Given the description of an element on the screen output the (x, y) to click on. 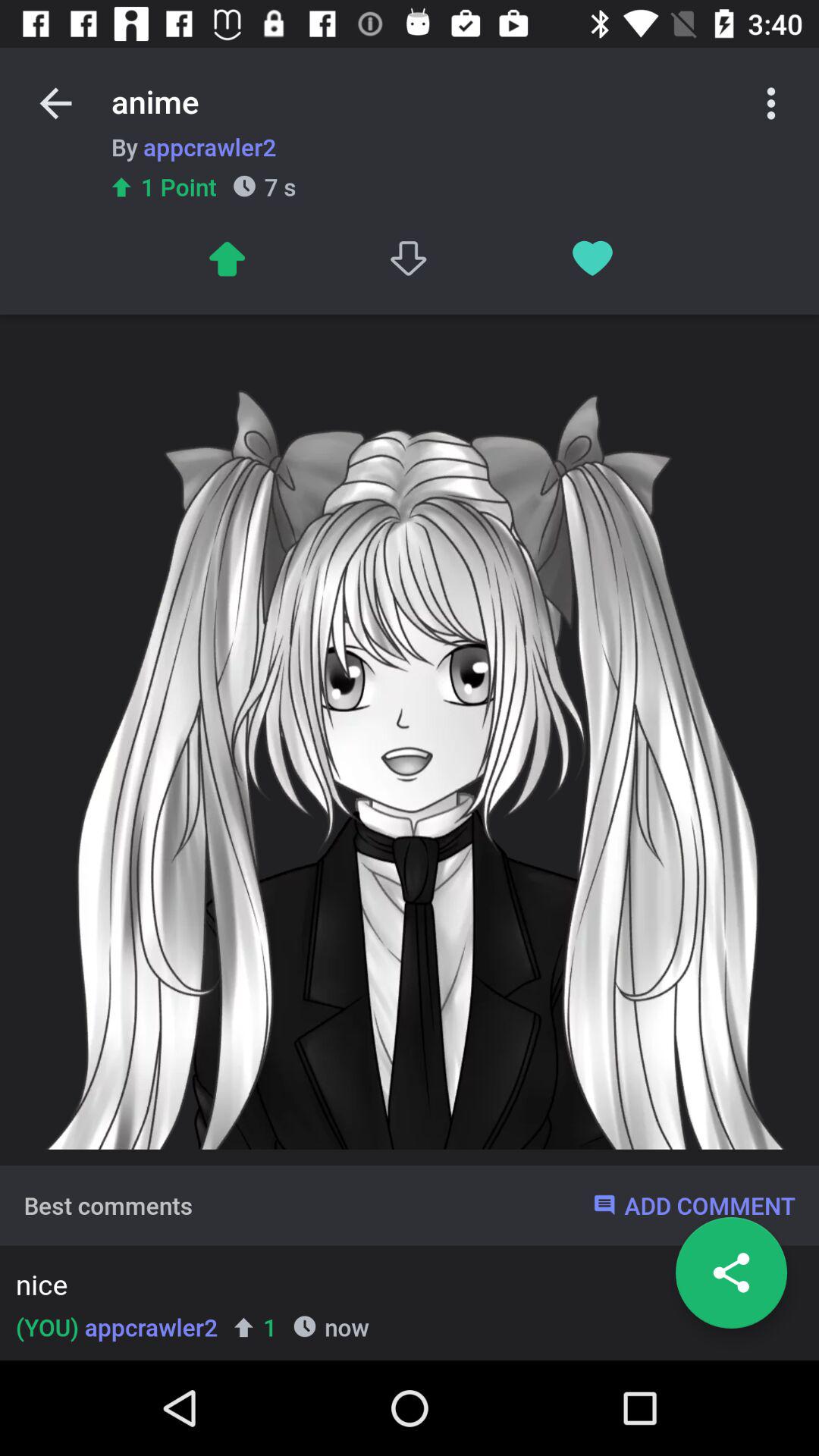
go to favorite (592, 258)
